Given the description of an element on the screen output the (x, y) to click on. 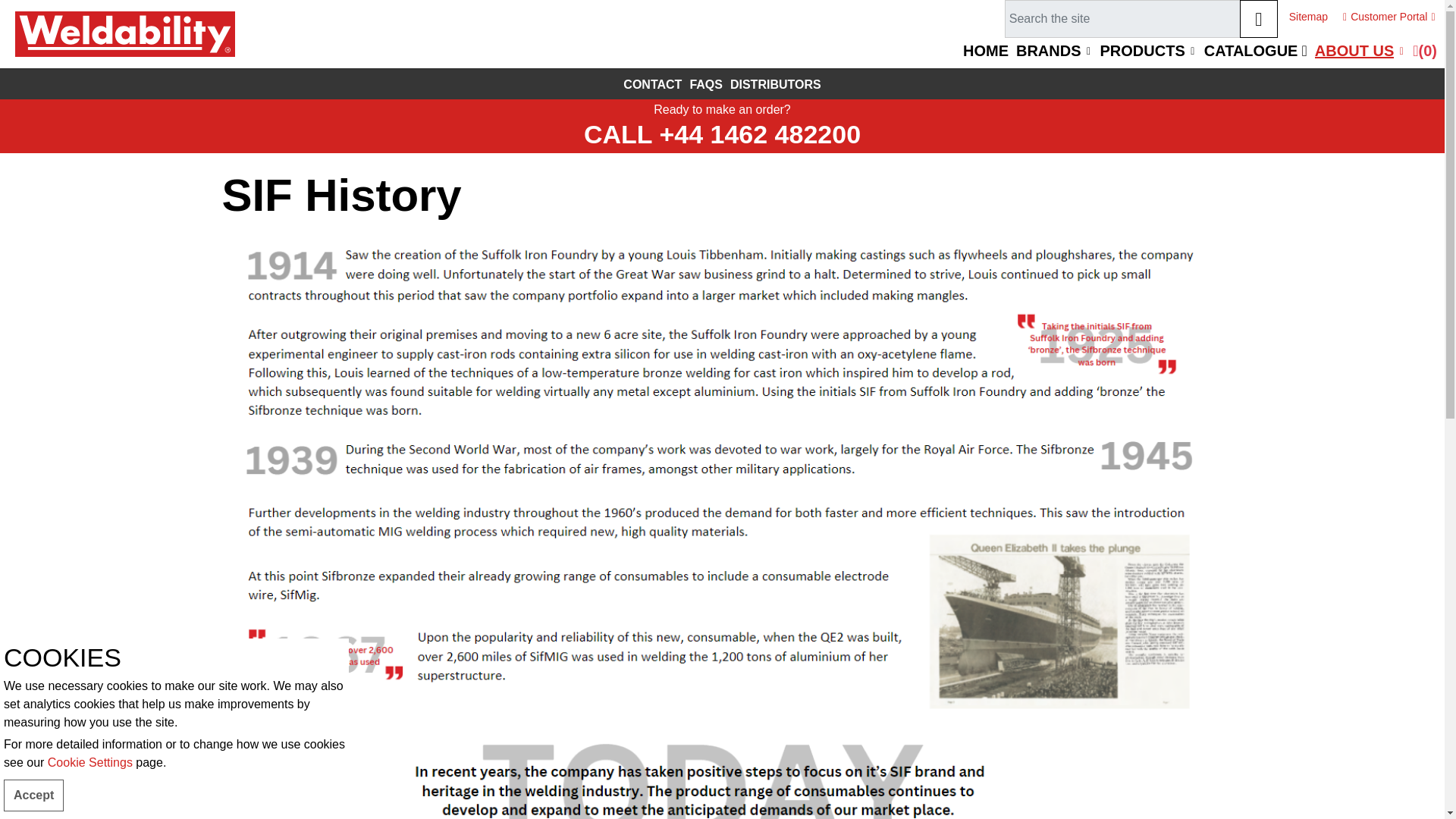
Cookies (90, 762)
ABOUT US (1360, 50)
CATALOGUE (1255, 50)
HOME (985, 50)
PRODUCTS (1147, 50)
BRANDS (1053, 50)
Weldability (124, 33)
